Given the description of an element on the screen output the (x, y) to click on. 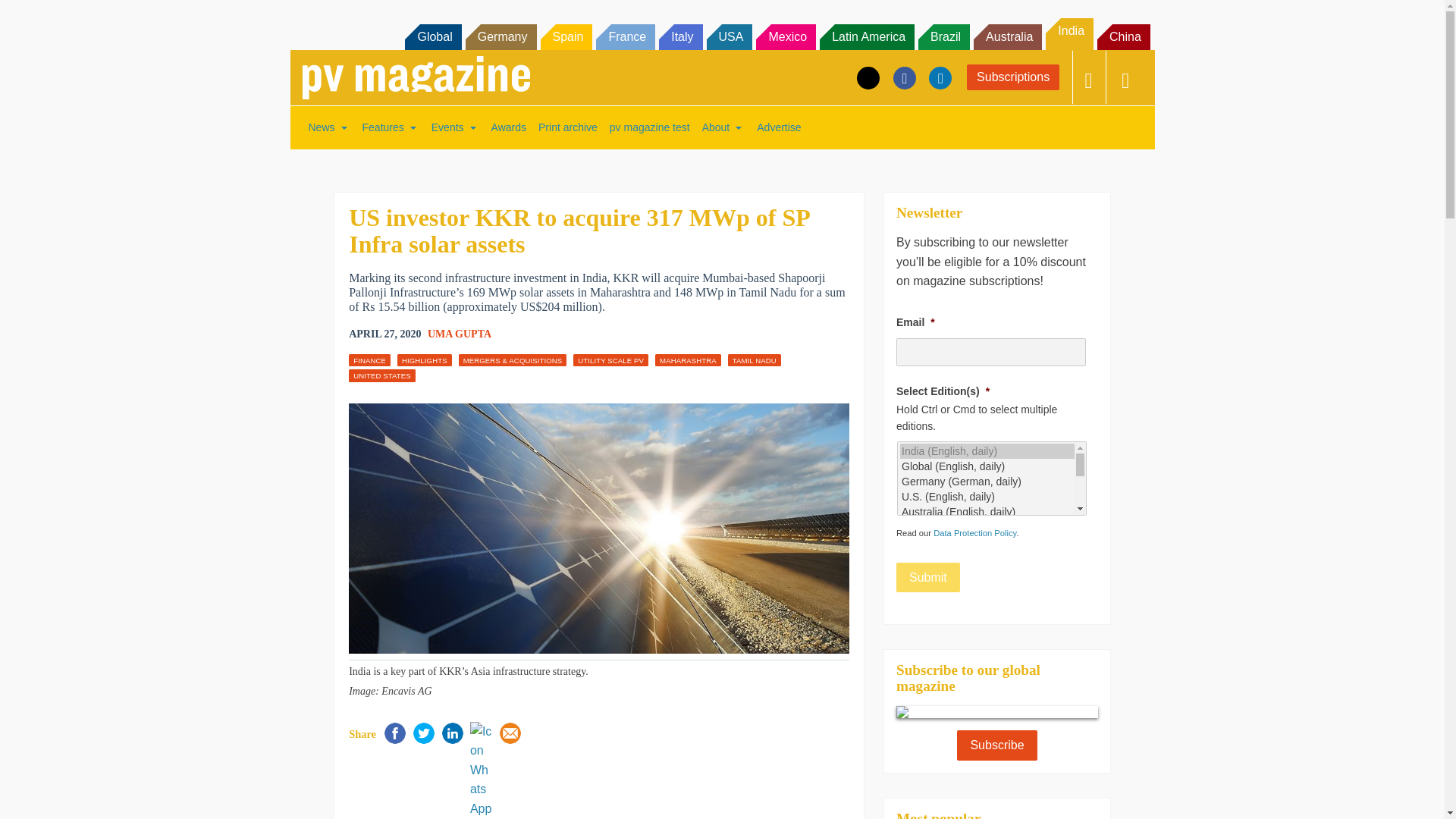
Search (32, 15)
Brazil (943, 36)
Submit (927, 577)
Mexico (785, 36)
Posts by Uma Gupta (460, 333)
USA (729, 36)
France (625, 36)
pv magazine - Photovoltaics Markets and Technology (415, 77)
Germany (501, 36)
Global (432, 36)
pv magazine - Photovoltaics Markets and Technology (415, 77)
Latin America (866, 36)
Subscriptions (1012, 77)
Spain (566, 36)
Italy (680, 36)
